Given the description of an element on the screen output the (x, y) to click on. 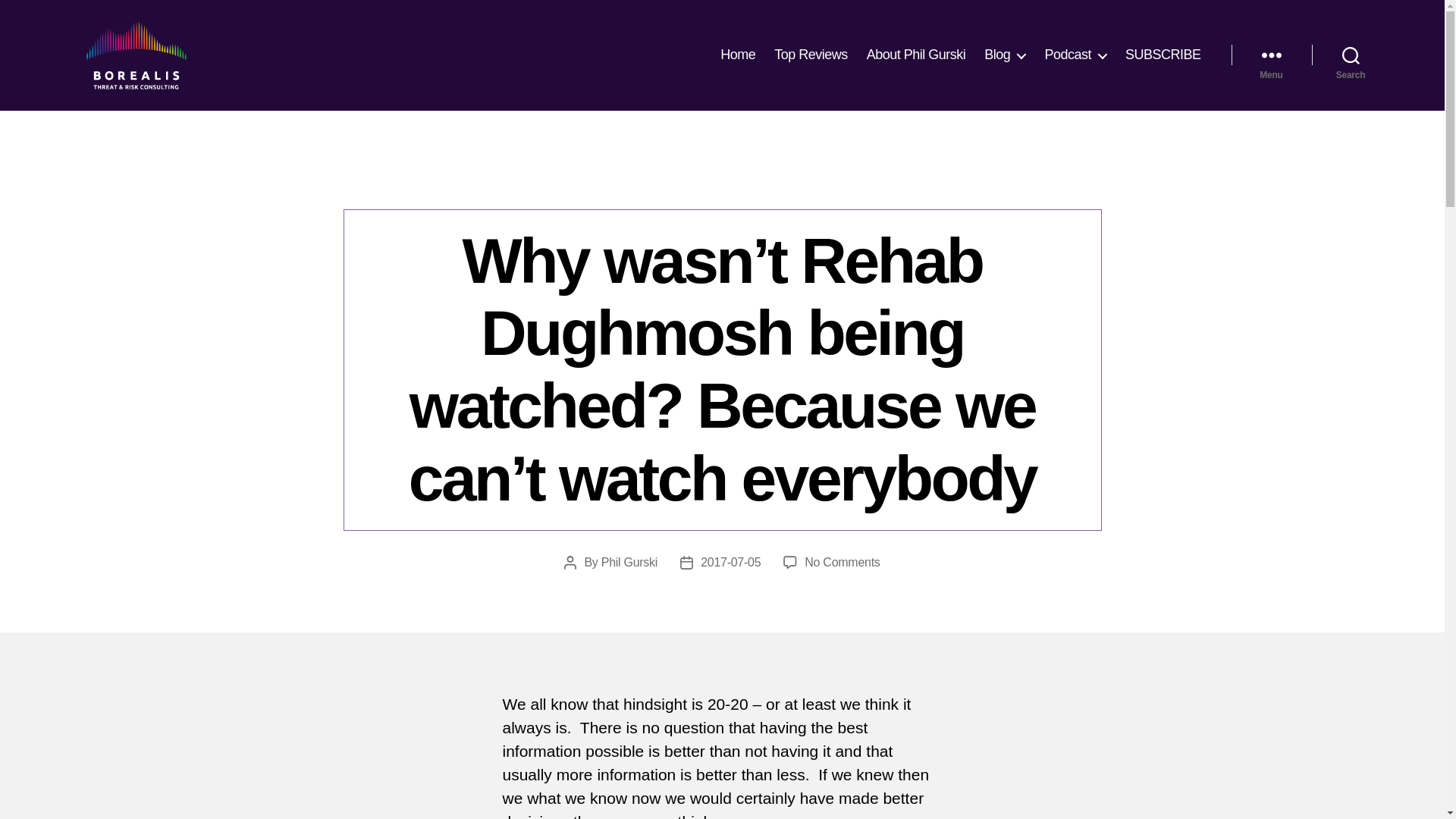
Blog (1004, 54)
SUBSCRIBE (1163, 54)
Search (1350, 55)
Home (737, 54)
Top Reviews (810, 54)
About Phil Gurski (916, 54)
Podcast (1074, 54)
Menu (1271, 55)
